Given the description of an element on the screen output the (x, y) to click on. 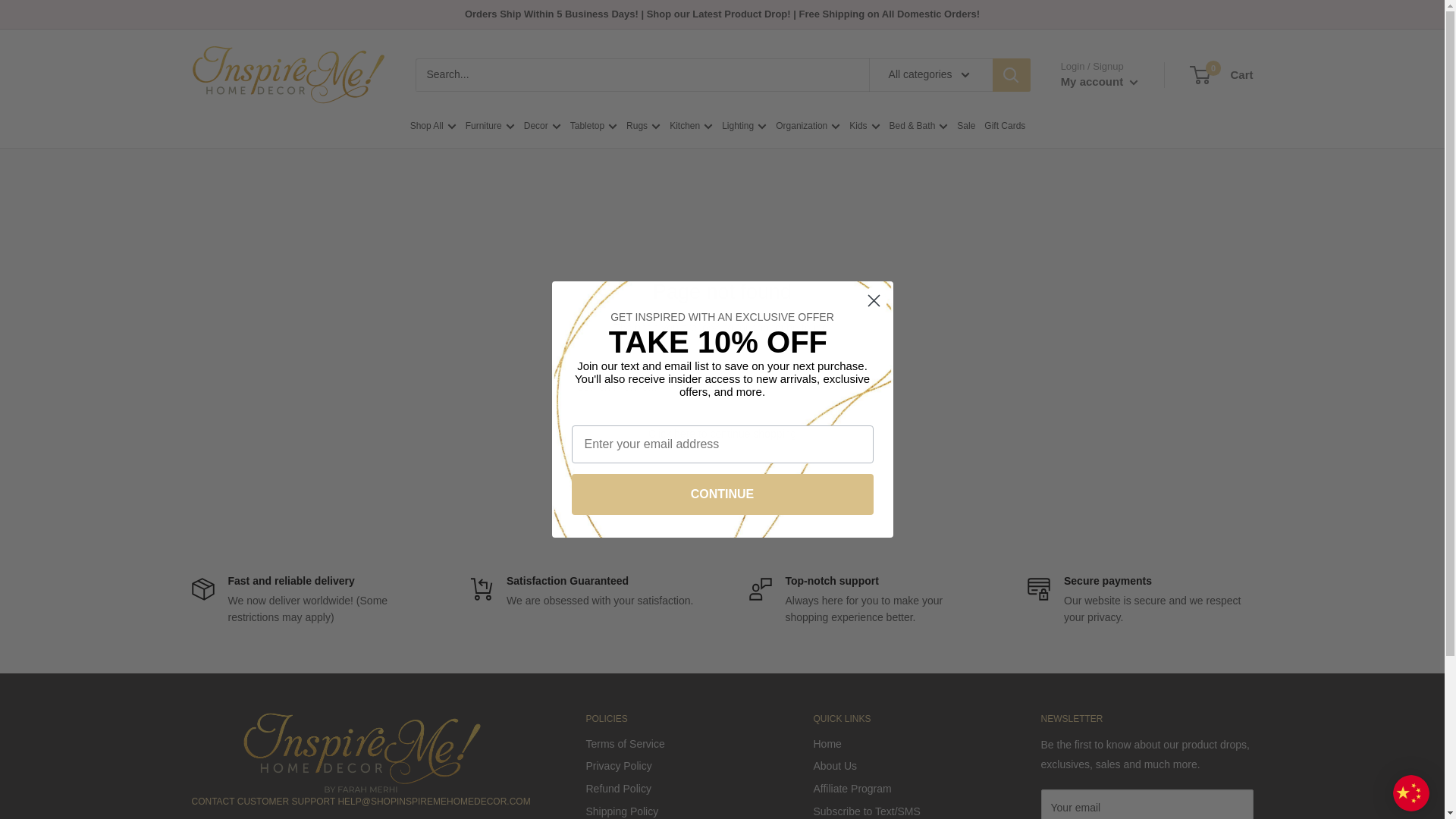
Open Zonos Hello (1411, 792)
